Given the description of an element on the screen output the (x, y) to click on. 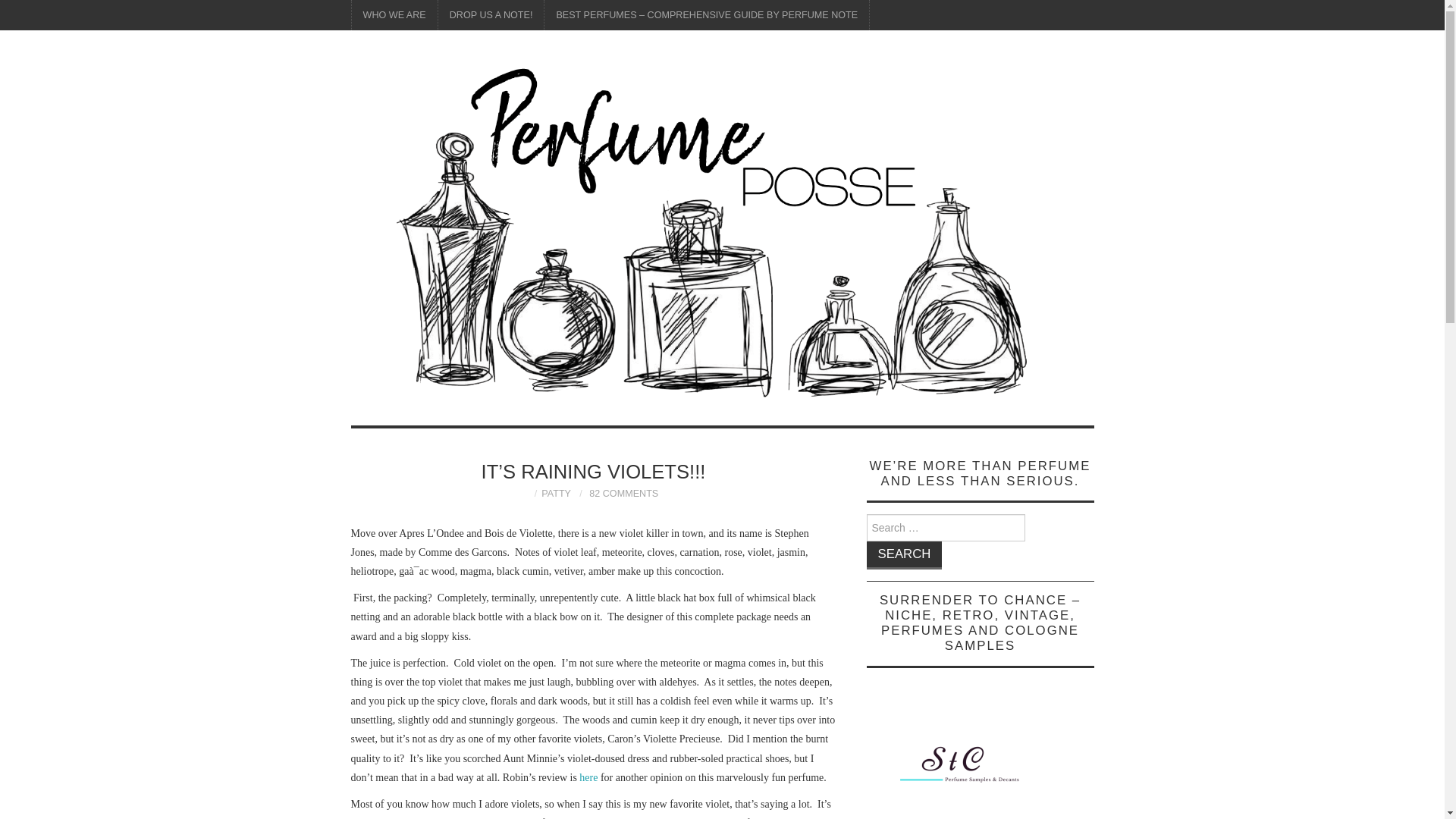
Search (904, 555)
Search for: (945, 527)
Search (904, 555)
here (587, 777)
82 COMMENTS (623, 493)
PATTY (555, 493)
DROP US A NOTE! (491, 15)
Search (904, 555)
WHO WE ARE (395, 15)
Perfume Posse (721, 234)
